Given the description of an element on the screen output the (x, y) to click on. 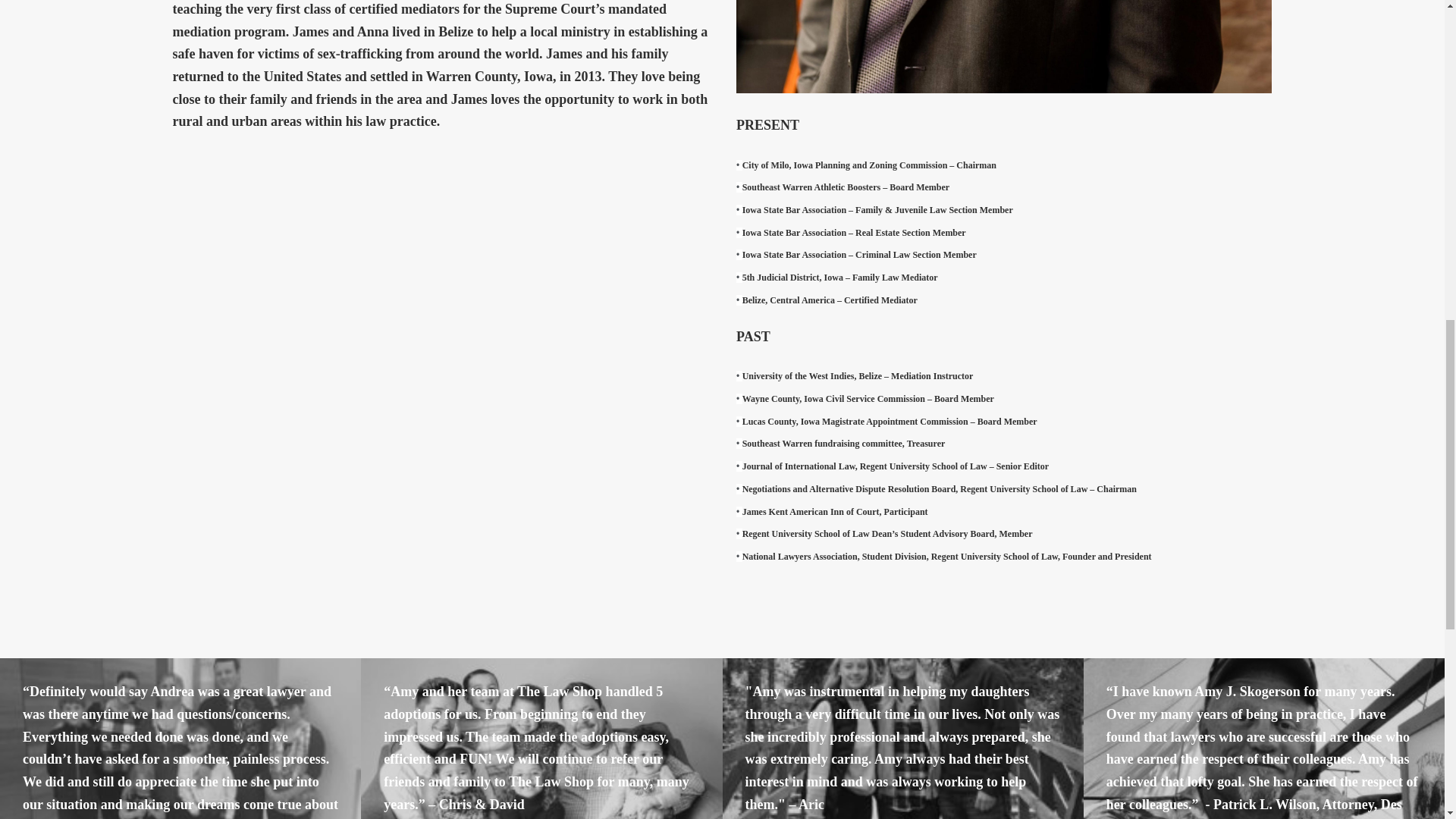
james-g-rowe-attorney-mediator (1003, 46)
